Given the description of an element on the screen output the (x, y) to click on. 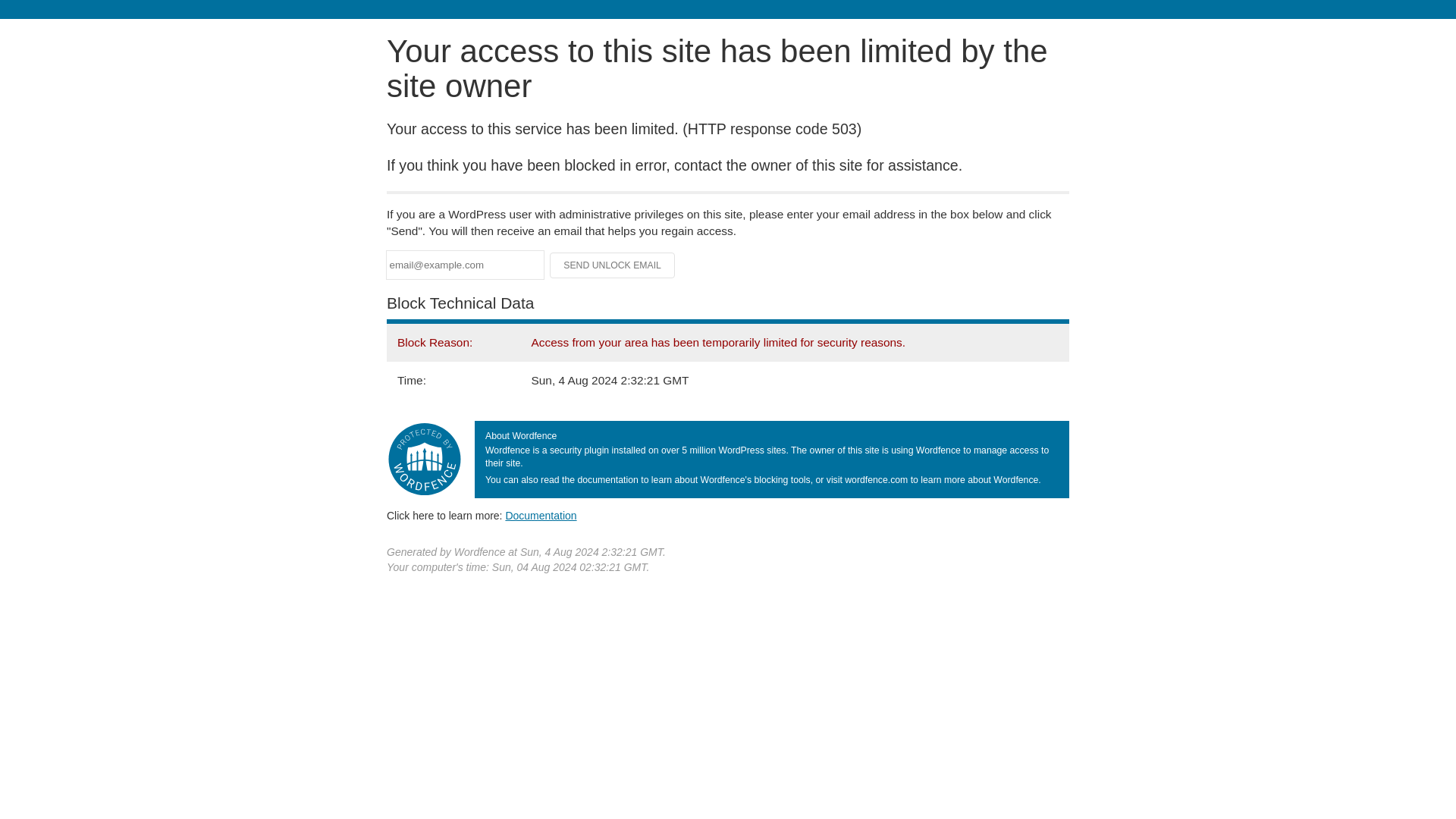
Send Unlock Email (612, 265)
Documentation (540, 515)
Send Unlock Email (612, 265)
